Given the description of an element on the screen output the (x, y) to click on. 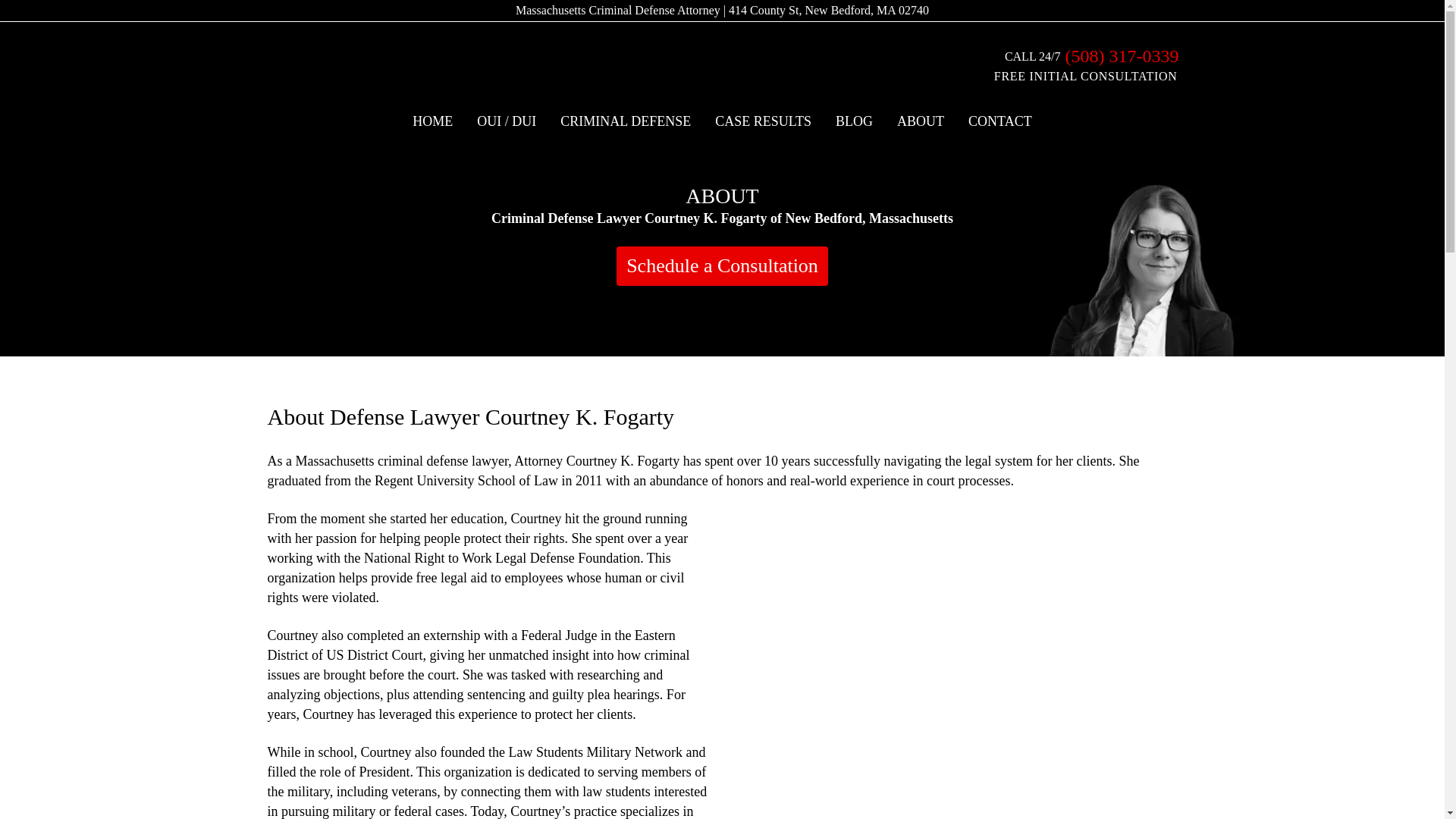
BLOG (854, 121)
CRIMINAL DEFENSE (625, 121)
ABOUT (920, 121)
CASE RESULTS (763, 121)
Criminal Defense Attorney (625, 121)
OUI Attorney (506, 121)
CONTACT (1000, 121)
HOME (432, 121)
